Given the description of an element on the screen output the (x, y) to click on. 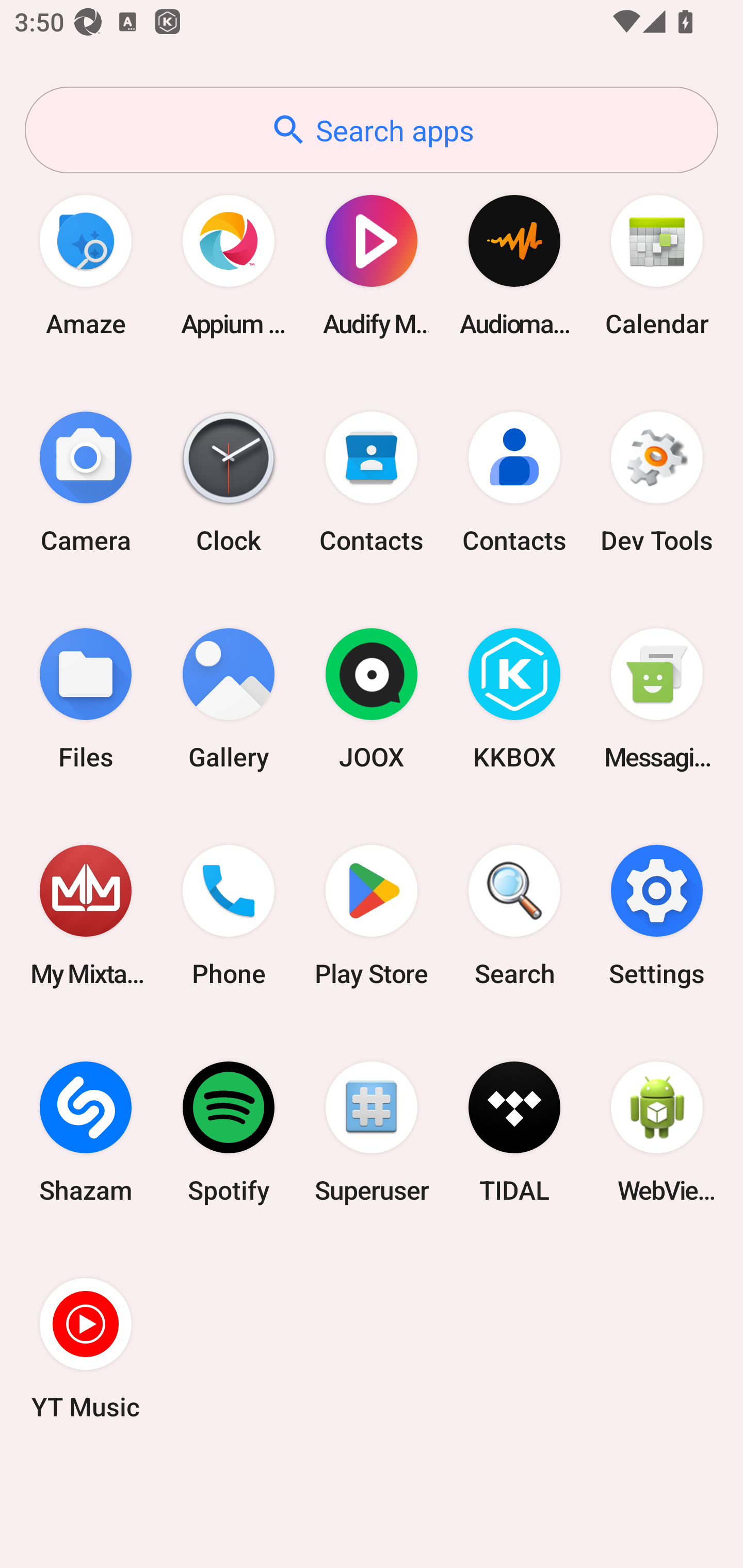
  Search apps (371, 130)
Amaze (85, 264)
Appium Settings (228, 264)
Audify Music Player (371, 264)
Audio­mack (514, 264)
Calendar (656, 264)
Camera (85, 482)
Clock (228, 482)
Contacts (371, 482)
Contacts (514, 482)
Dev Tools (656, 482)
Files (85, 699)
Gallery (228, 699)
JOOX (371, 699)
KKBOX (514, 699)
Messaging (656, 699)
My Mixtapez (85, 915)
Phone (228, 915)
Play Store (371, 915)
Search (514, 915)
Settings (656, 915)
Shazam (85, 1131)
Spotify (228, 1131)
Superuser (371, 1131)
TIDAL (514, 1131)
WebView Browser Tester (656, 1131)
YT Music (85, 1348)
